Given the description of an element on the screen output the (x, y) to click on. 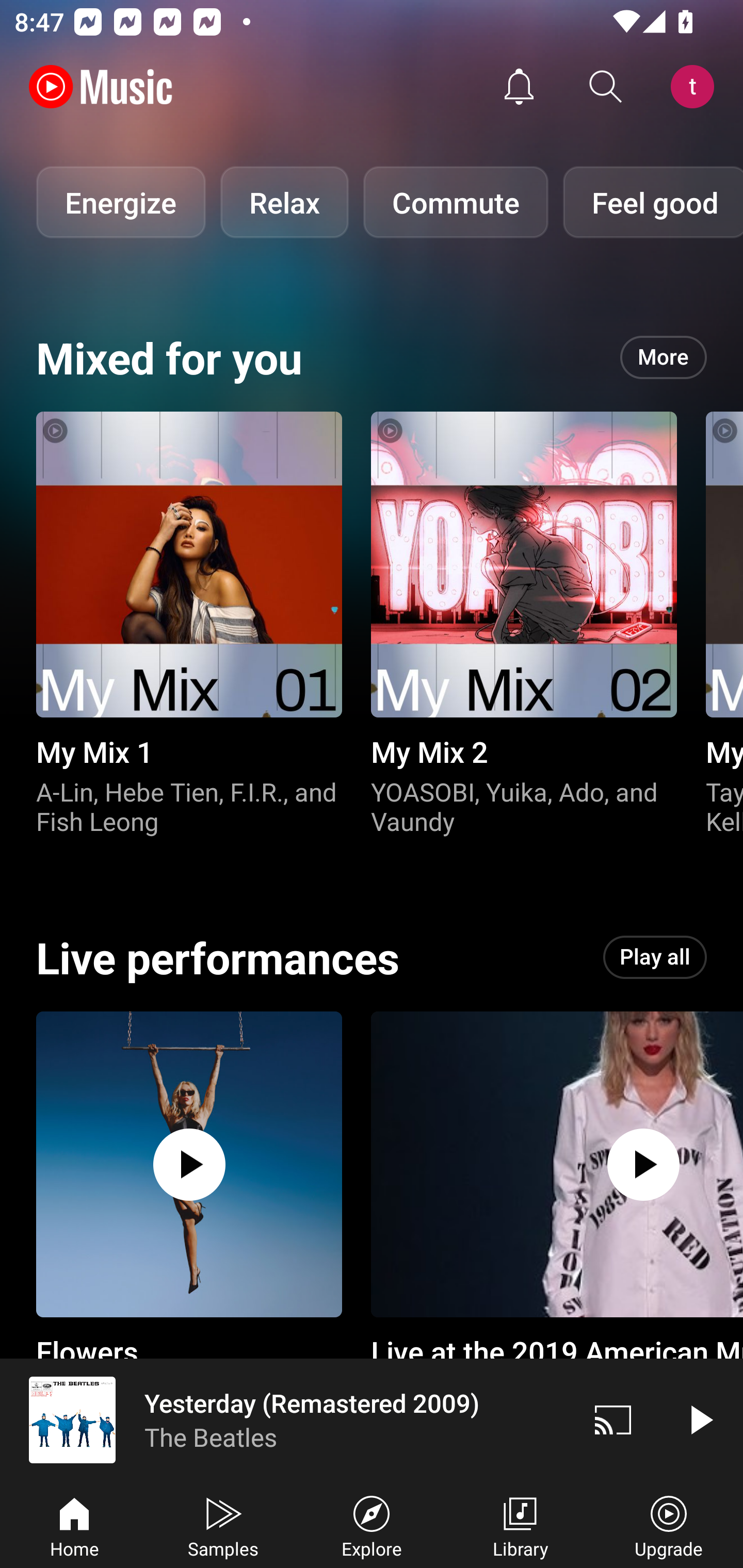
Activity feed (518, 86)
Search (605, 86)
Account (696, 86)
Yesterday (Remastered 2009) The Beatles (284, 1419)
Cast. Disconnected (612, 1419)
Play video (699, 1419)
Home (74, 1524)
Samples (222, 1524)
Explore (371, 1524)
Library (519, 1524)
Upgrade (668, 1524)
